Given the description of an element on the screen output the (x, y) to click on. 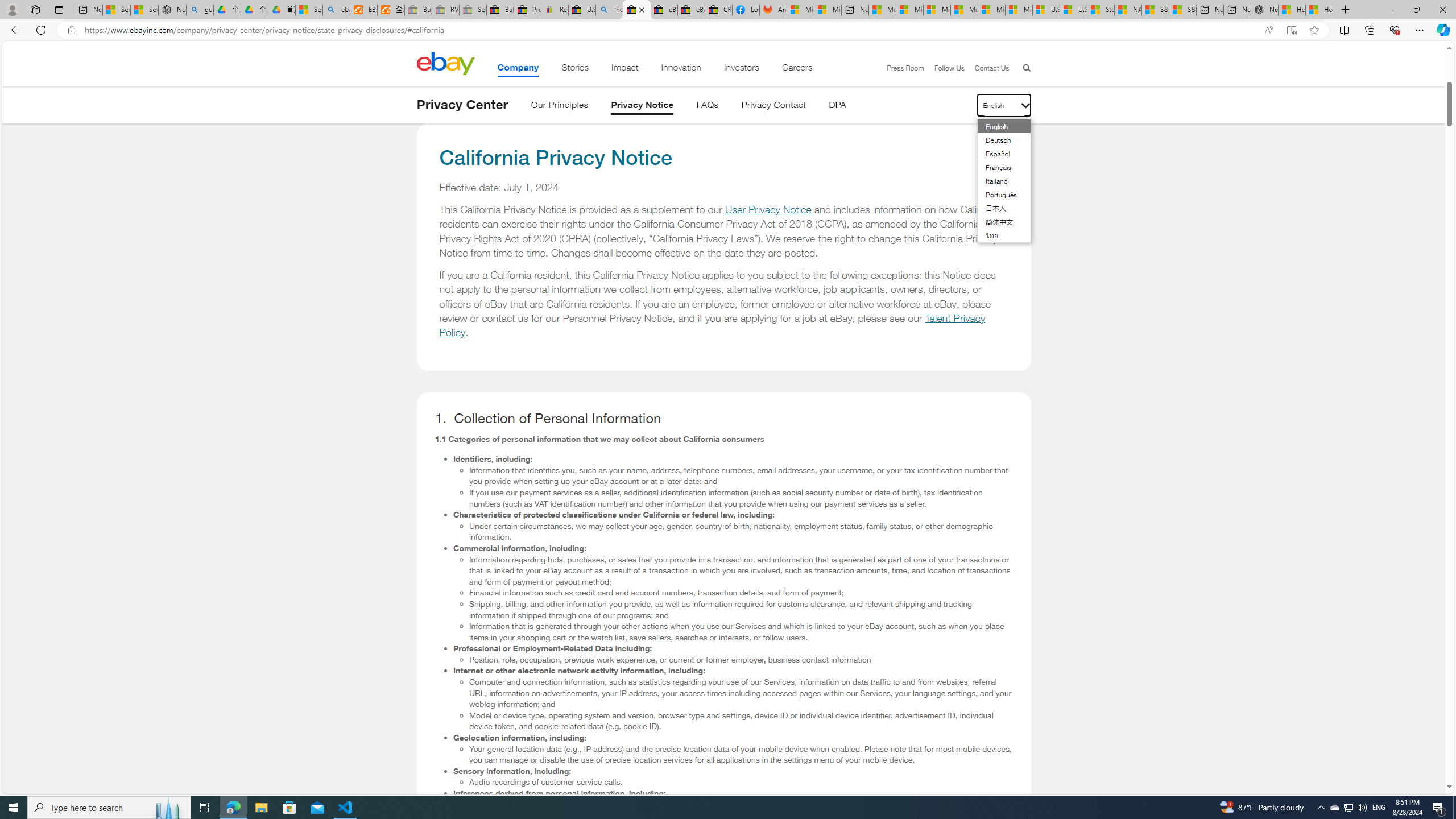
View site information (70, 29)
Close tab (641, 9)
Close (1442, 9)
guge yunpan - Search (200, 9)
Italiano (996, 180)
App bar (728, 29)
Talent Privacy Policy (712, 325)
Restore (1416, 9)
Sell worldwide with eBay - Sleeping (473, 9)
